Given the description of an element on the screen output the (x, y) to click on. 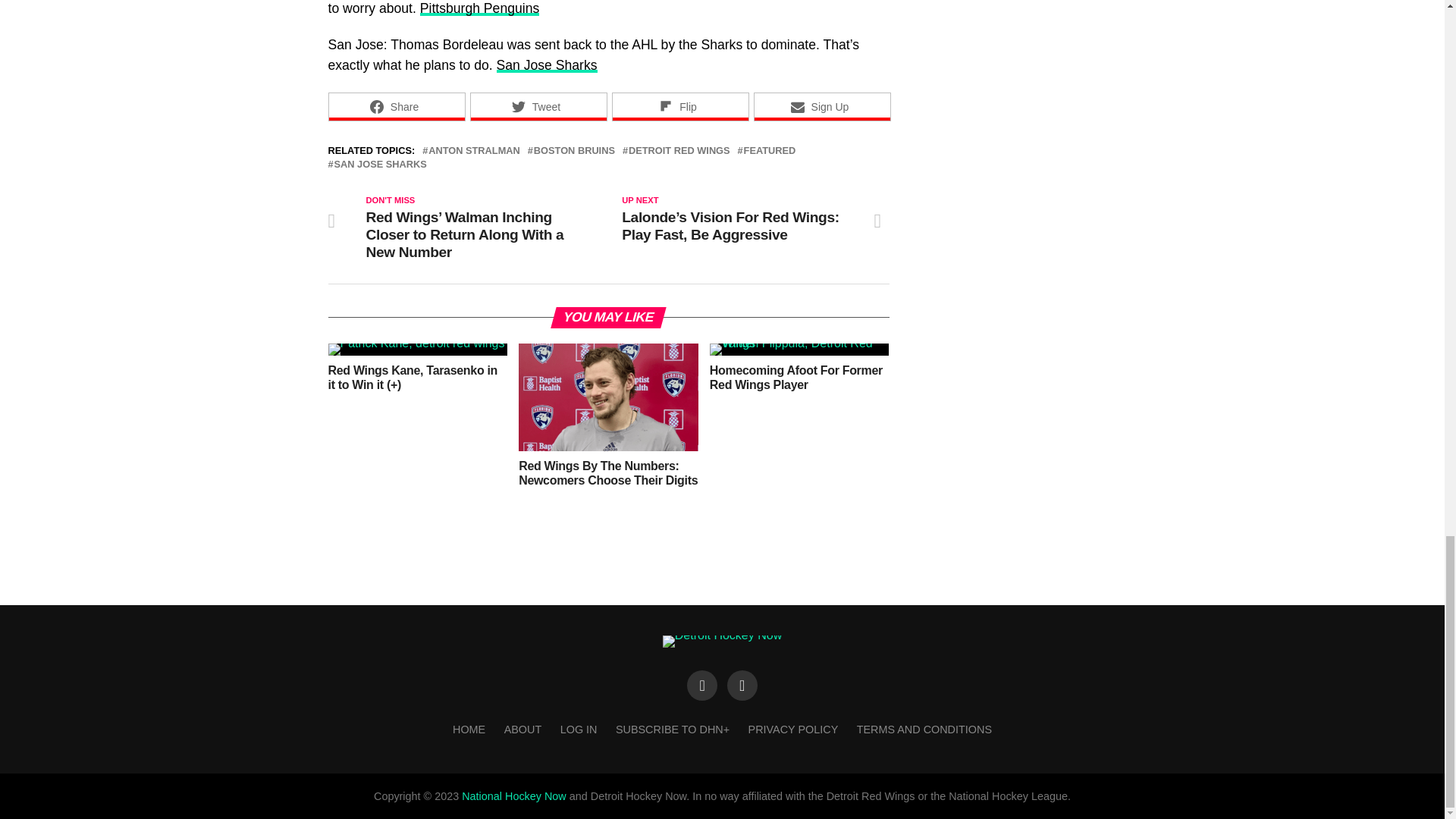
Share on Share (395, 106)
Share on Tweet (538, 106)
Share on Sign Up (822, 106)
Share on Flip (679, 106)
